Given the description of an element on the screen output the (x, y) to click on. 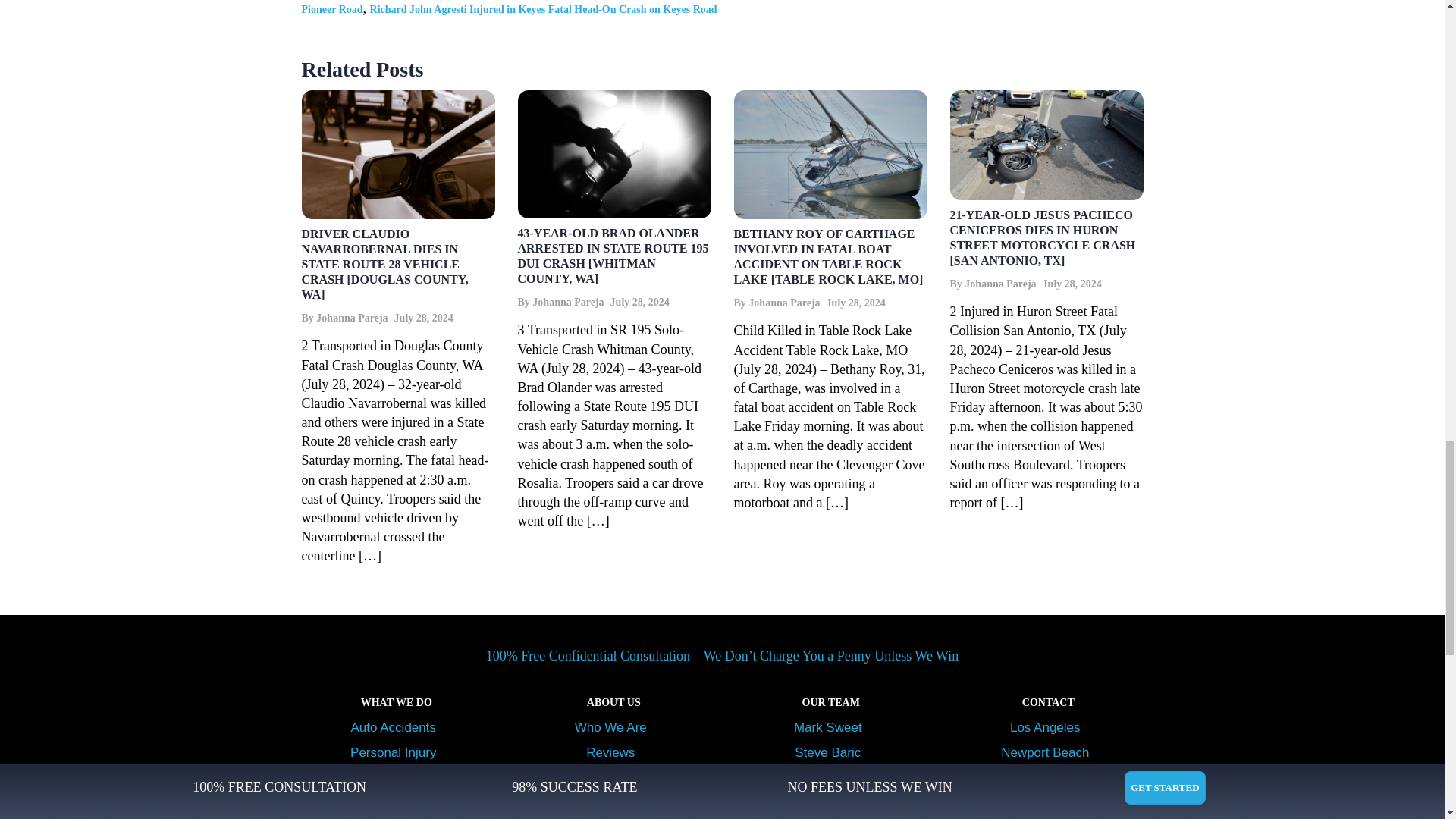
Posts by Johanna Pareja (351, 317)
Johanna Pareja (351, 317)
Posts by Johanna Pareja (783, 302)
Johanna Pareja (568, 301)
Auto Accidents (396, 727)
Personal Injury (396, 752)
Posts by Johanna Pareja (568, 301)
Posts by Johanna Pareja (999, 283)
